Given the description of an element on the screen output the (x, y) to click on. 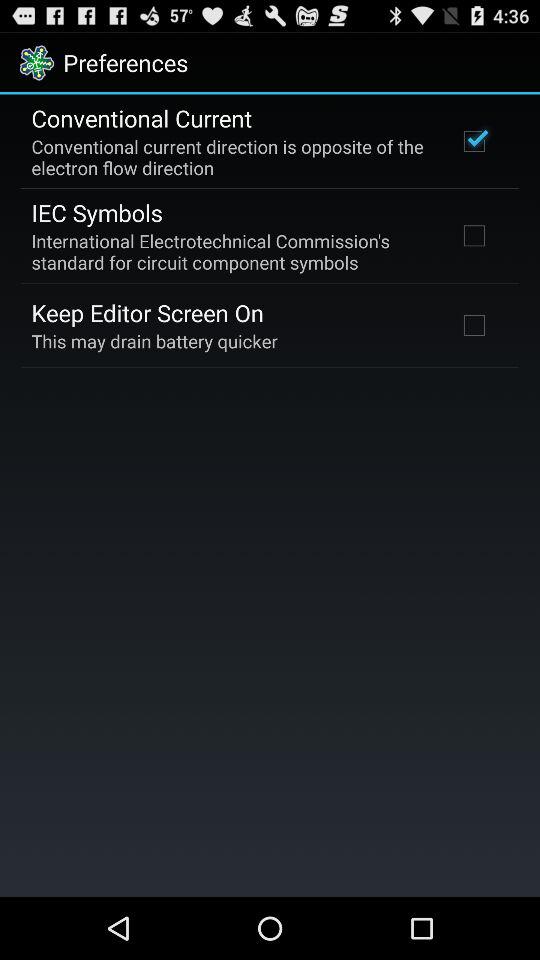
launch item below the international electrotechnical commission app (147, 312)
